Given the description of an element on the screen output the (x, y) to click on. 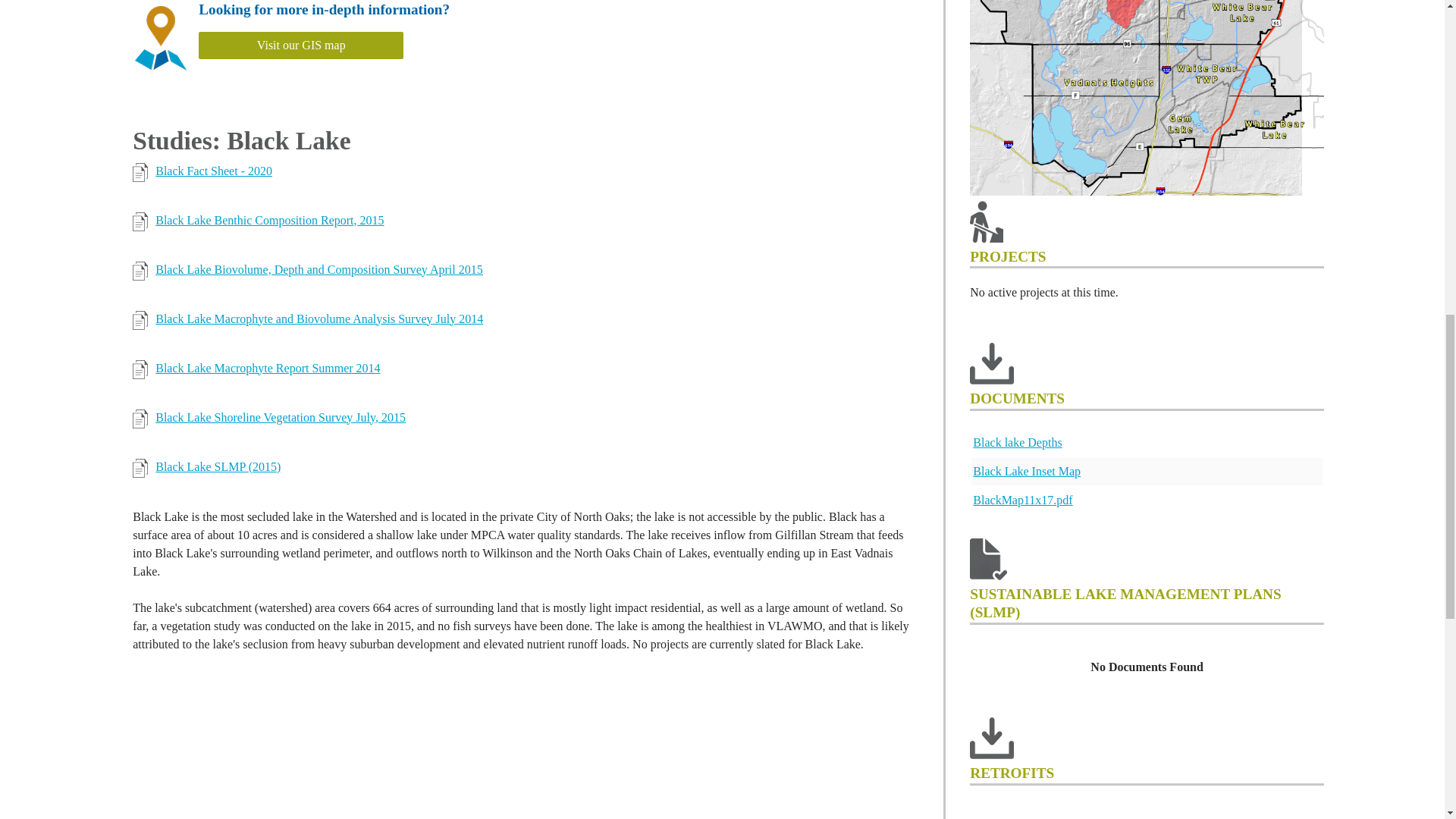
Document Library (1146, 470)
